Given the description of an element on the screen output the (x, y) to click on. 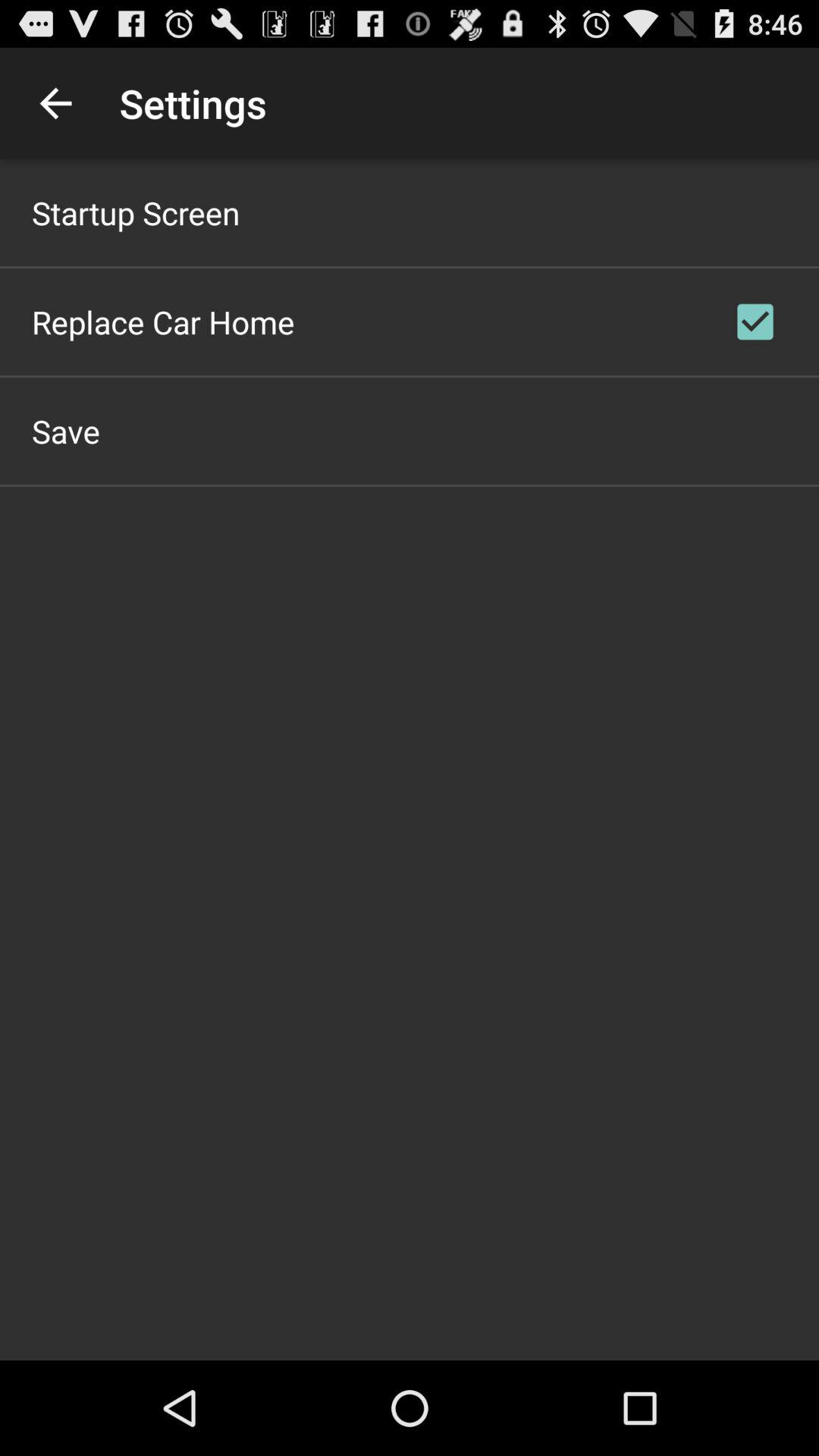
swipe until save app (65, 430)
